Given the description of an element on the screen output the (x, y) to click on. 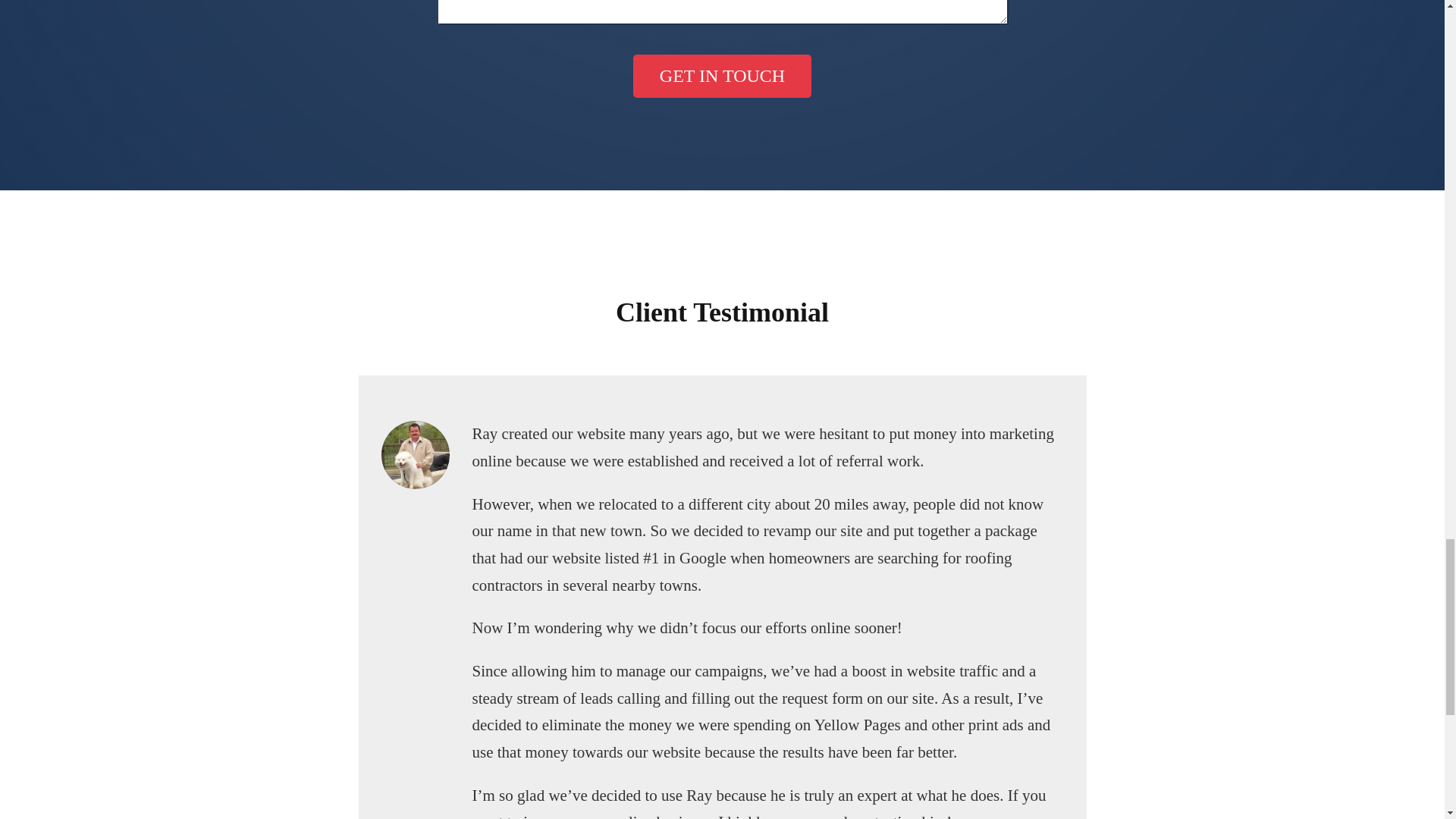
Get in Touch (721, 75)
Get in Touch (721, 75)
